Given the description of an element on the screen output the (x, y) to click on. 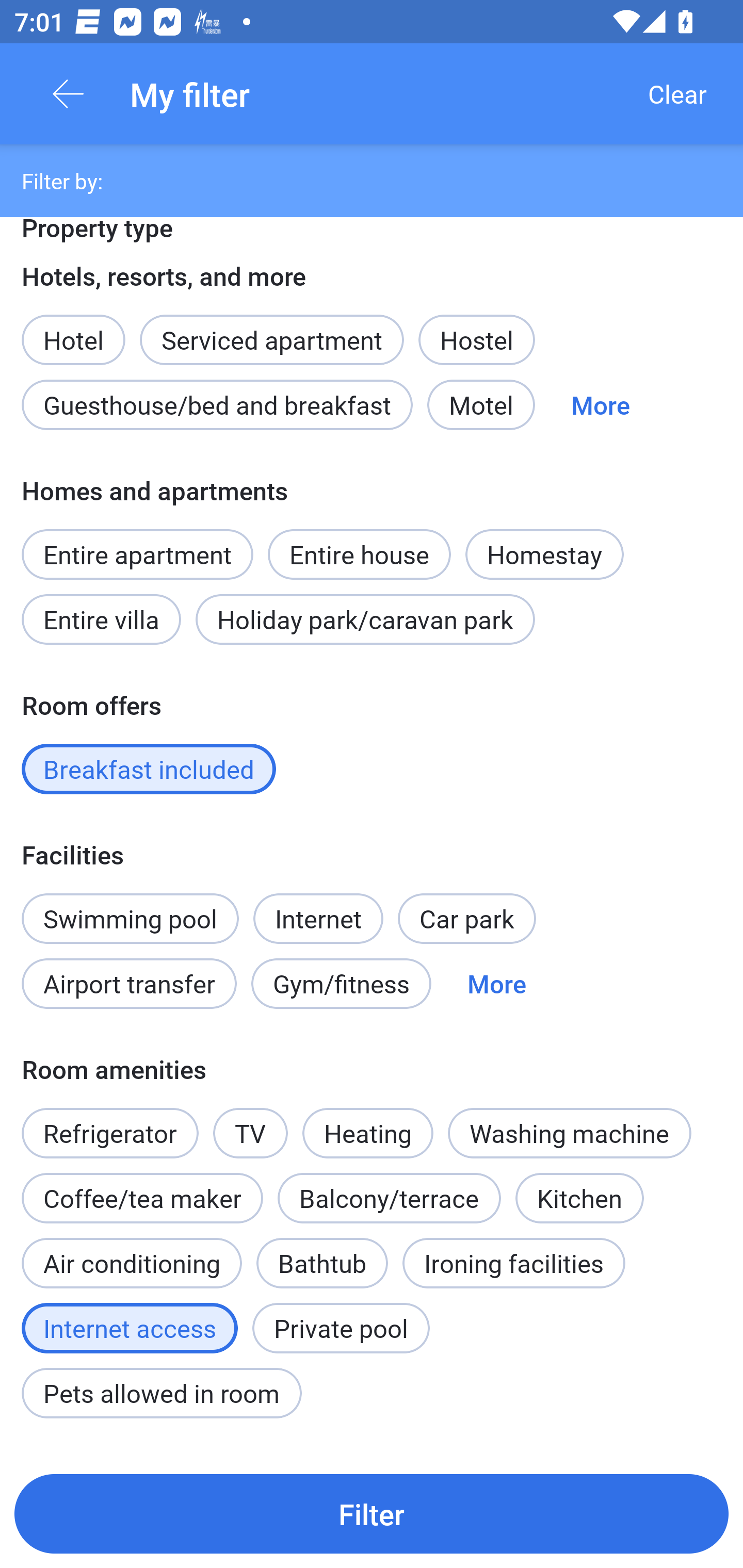
Clear (676, 93)
Hotel (73, 329)
Serviced apartment (271, 329)
Hostel (476, 339)
Guesthouse/bed and breakfast (217, 405)
Motel (480, 405)
More (600, 405)
Entire apartment (137, 554)
Entire house (359, 543)
Homestay (544, 554)
Entire villa (101, 619)
Holiday park/caravan park (364, 619)
Swimming pool (130, 917)
Internet (318, 907)
Car park (466, 917)
Airport transfer (129, 983)
Gym/fitness (341, 983)
More (496, 983)
Refrigerator (109, 1122)
TV (250, 1132)
Heating (367, 1122)
Washing machine (569, 1132)
Coffee/tea maker (142, 1198)
Balcony/terrace (388, 1198)
Kitchen (579, 1198)
Air conditioning (131, 1262)
Bathtub (321, 1251)
Ironing facilities (513, 1262)
Private pool (340, 1328)
Pets allowed in room (161, 1393)
Filter (371, 1513)
